Given the description of an element on the screen output the (x, y) to click on. 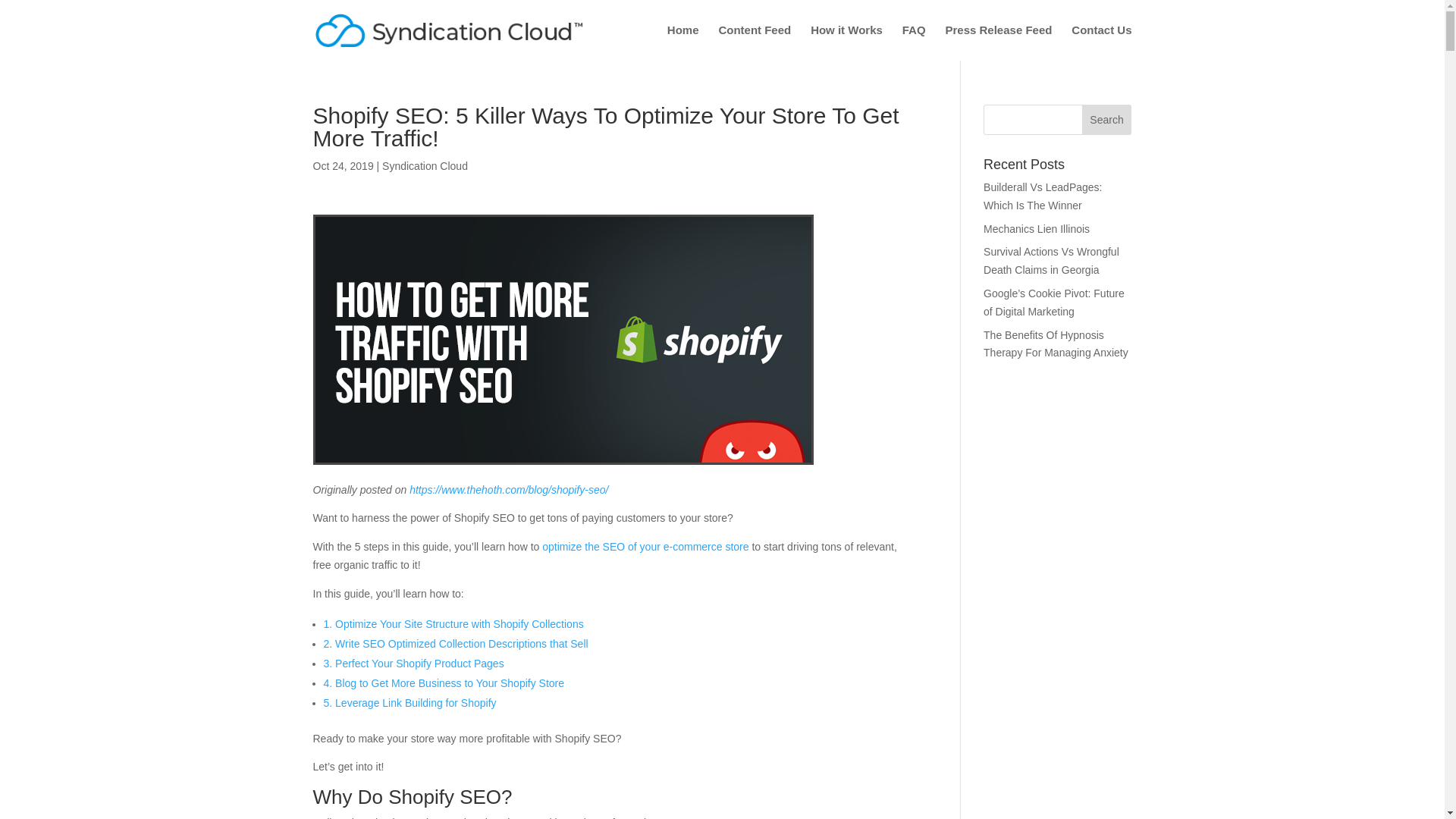
Home (682, 42)
2. Write SEO Optimized Collection Descriptions that Sell (455, 644)
Syndication Cloud (424, 165)
optimize the SEO of your e-commerce store (644, 546)
3. Perfect Your Shopify Product Pages (413, 663)
5. Leverage Link Building for Shopify (409, 702)
Contact Us (1101, 42)
How it Works (846, 42)
Press Release Feed (997, 42)
1. Optimize Your Site Structure with Shopify Collections (453, 623)
4. Blog to Get More Business to Your Shopify Store (443, 683)
Content Feed (753, 42)
Search (1106, 119)
